Given the description of an element on the screen output the (x, y) to click on. 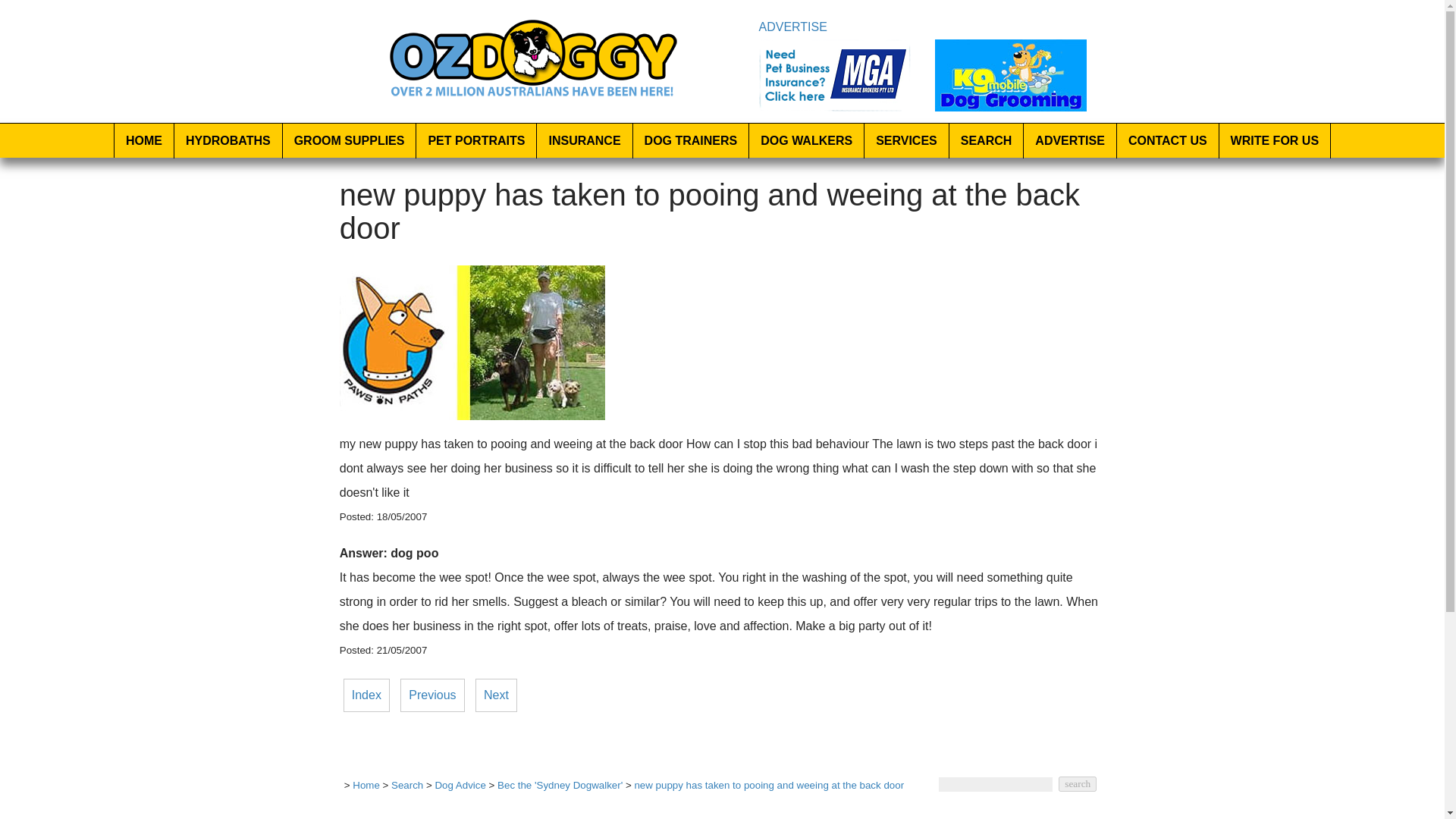
Advertisement (722, 812)
DOG WALKERS (806, 140)
GROOM SUPPLIES (349, 140)
HYDROBATHS (228, 140)
INSURANCE (584, 140)
new puppy has taken to pooing and weeing at the back door (472, 415)
PET PORTRAITS (476, 140)
HOME (144, 140)
SERVICES (906, 140)
ADVERTISE (792, 26)
